Given the description of an element on the screen output the (x, y) to click on. 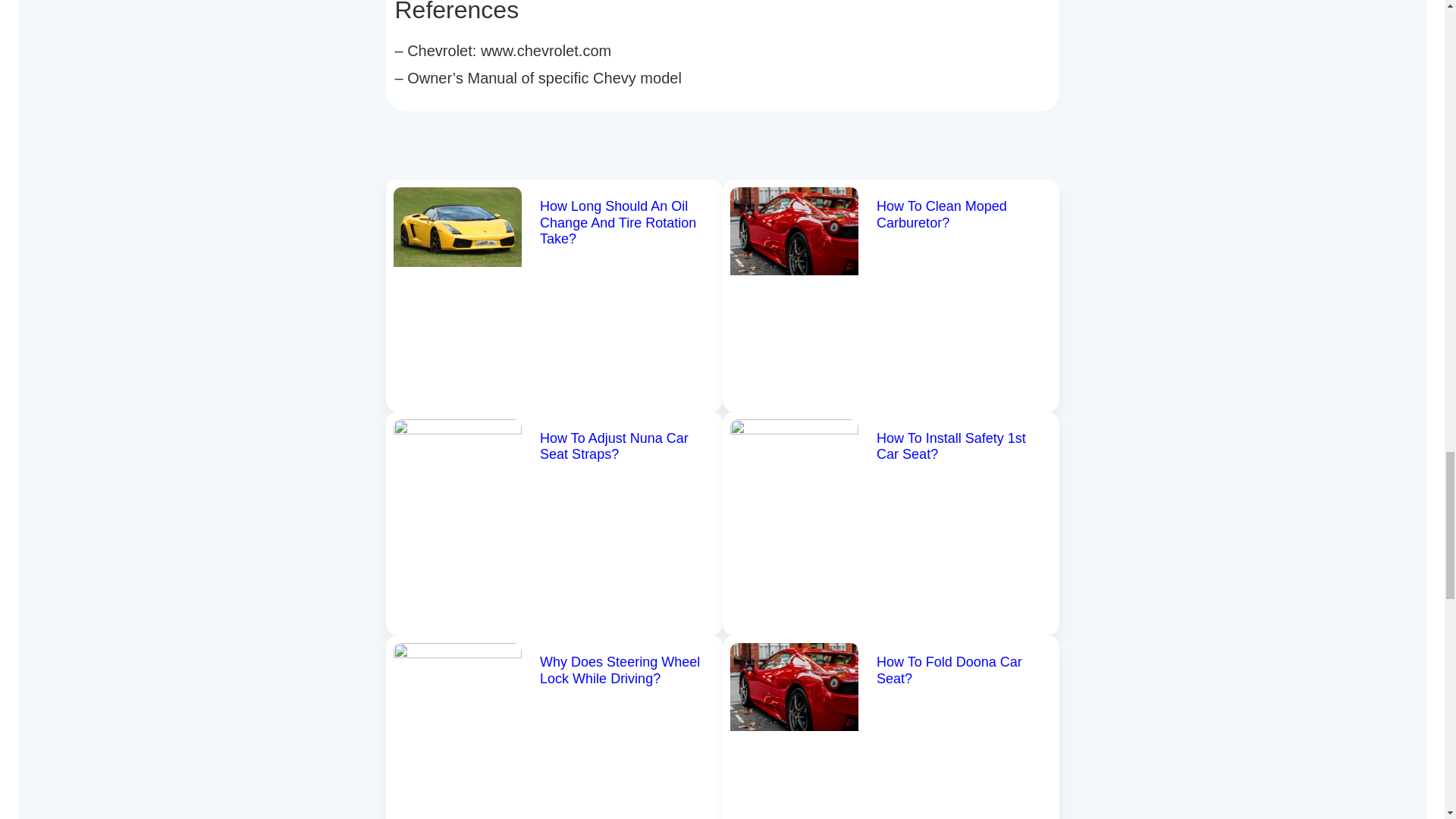
How To Adjust Nuna Car Seat Straps? (614, 446)
How To Clean Moped Carburetor? (941, 214)
How To Install Safety 1st Car Seat? (951, 446)
Why Does Steering Wheel Lock While Driving? (620, 670)
References (721, 12)
How Long Should An Oil Change And Tire Rotation Take? (617, 222)
How To Fold Doona Car Seat? (949, 670)
